Given the description of an element on the screen output the (x, y) to click on. 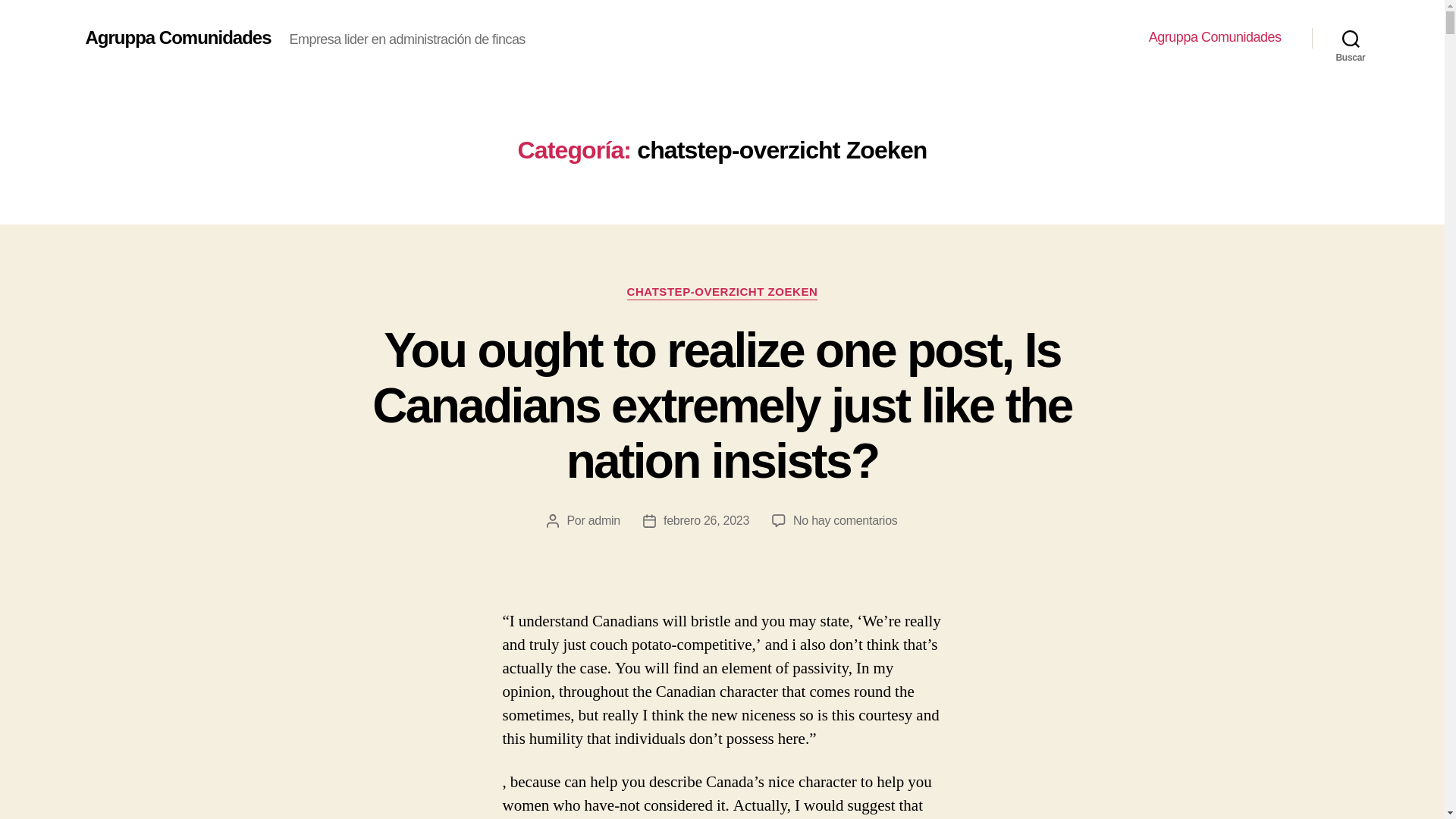
febrero 26, 2023 (706, 520)
Buscar (1350, 37)
Agruppa Comunidades (1214, 37)
CHATSTEP-OVERZICHT ZOEKEN (722, 292)
admin (604, 520)
Agruppa Comunidades (177, 37)
